Given the description of an element on the screen output the (x, y) to click on. 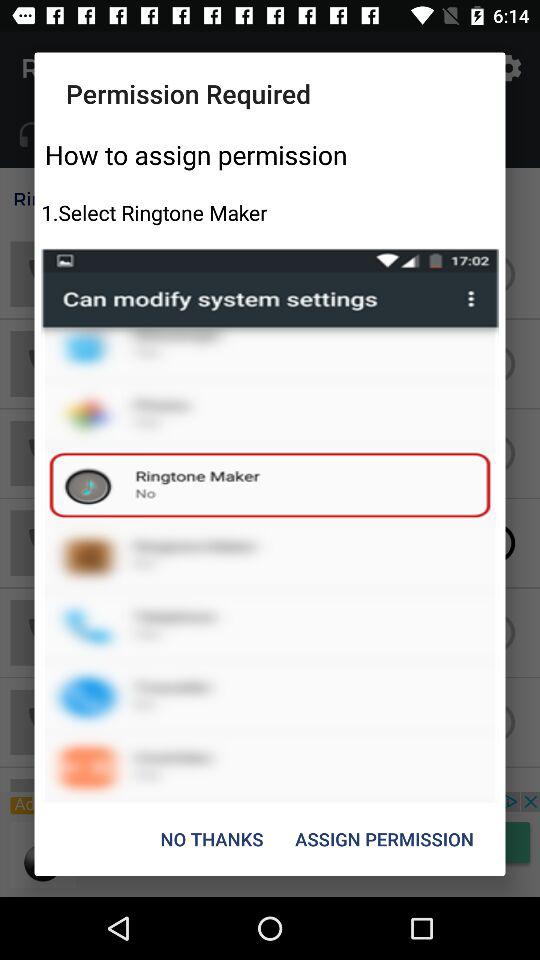
swipe until no thanks item (211, 838)
